Given the description of an element on the screen output the (x, y) to click on. 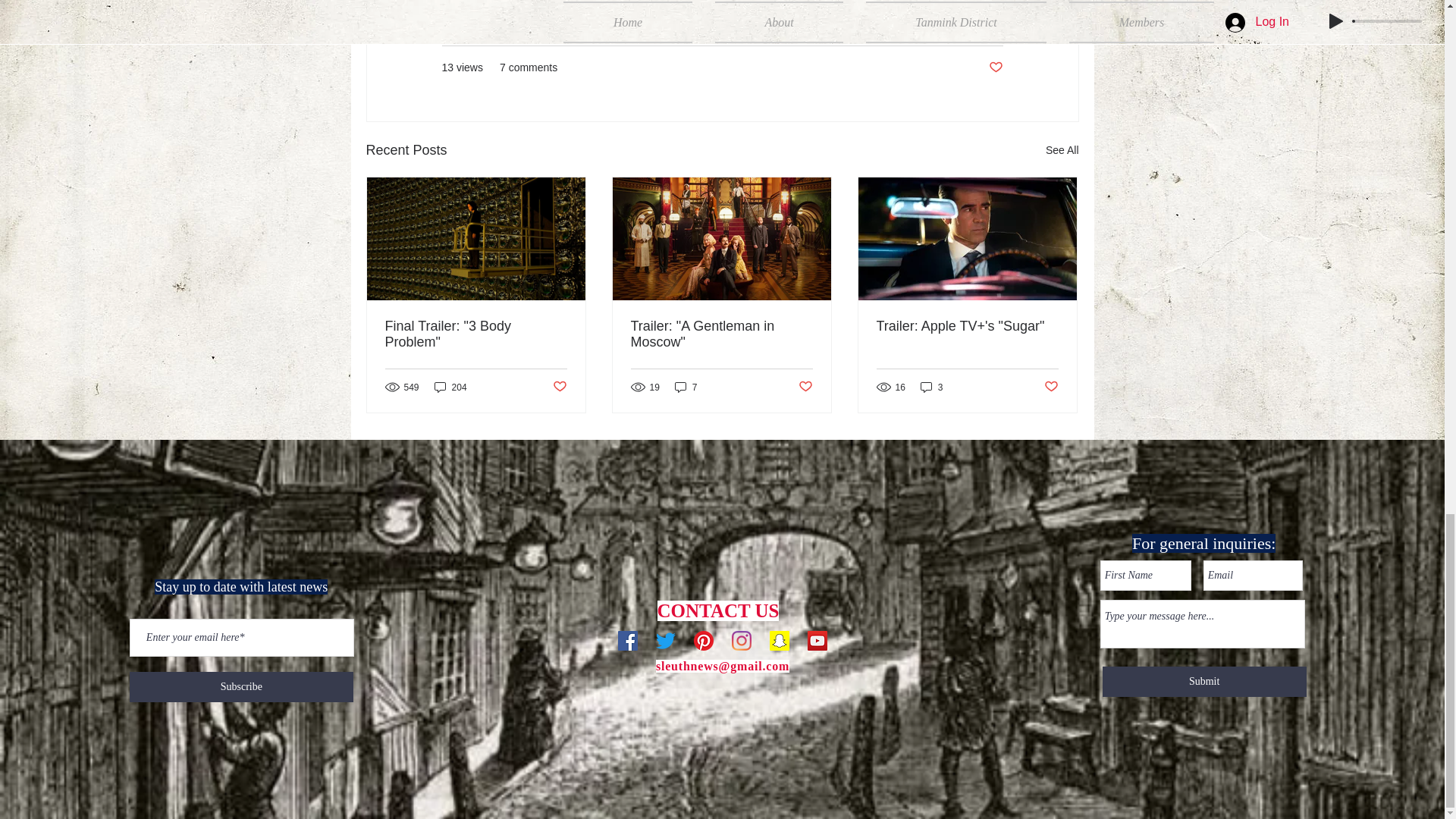
See All (1061, 150)
Trailer: "A Gentleman in Moscow" (721, 334)
7 (685, 386)
Post not marked as liked (558, 386)
Post not marked as liked (804, 386)
Trailers (985, 21)
Post not marked as liked (995, 67)
3 (931, 386)
204 (450, 386)
Post not marked as liked (1050, 386)
Final Trailer: "3 Body Problem" (476, 334)
